Given the description of an element on the screen output the (x, y) to click on. 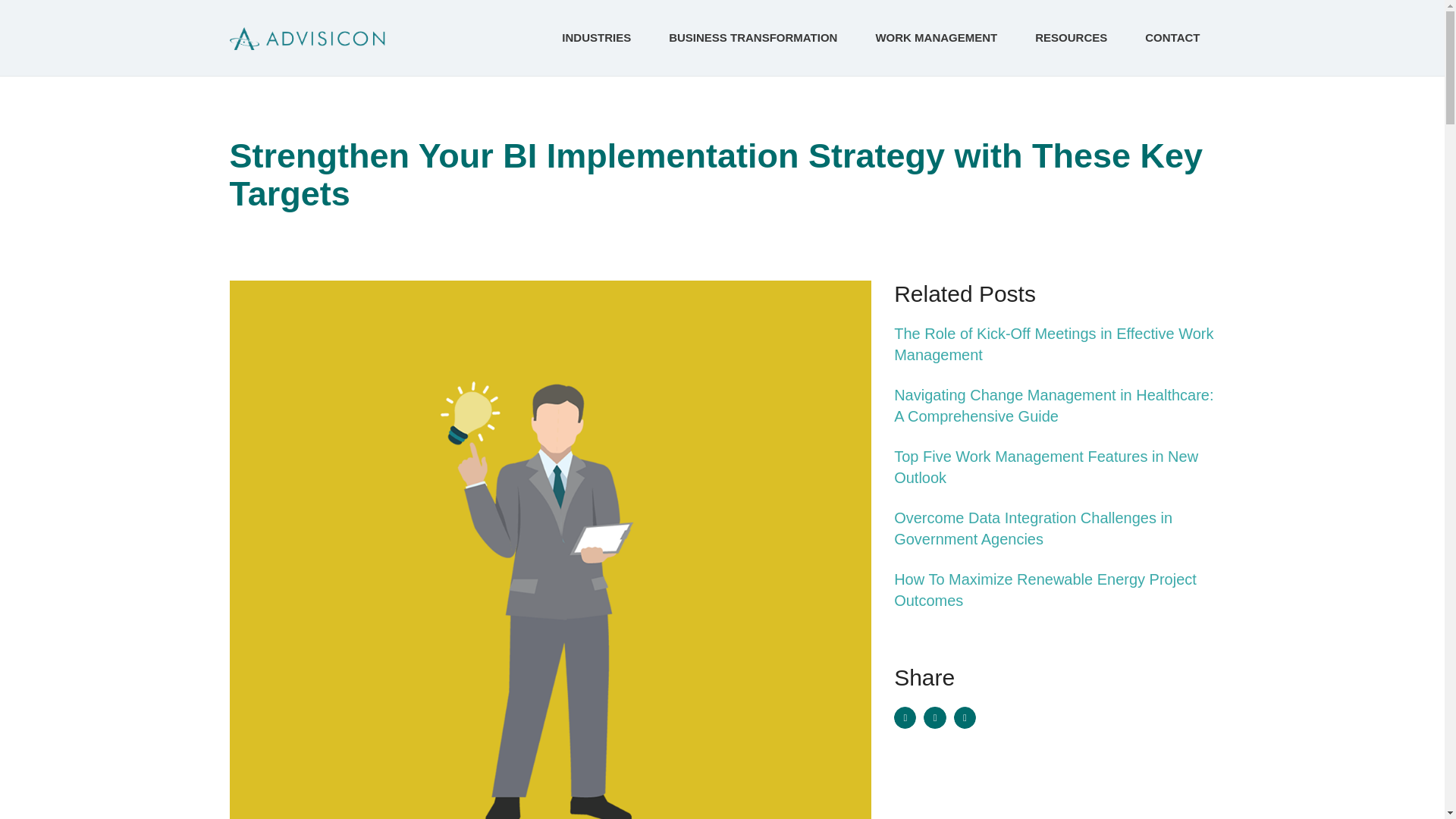
INDUSTRIES (600, 38)
WORK MANAGEMENT (940, 38)
RESOURCES (1074, 38)
CONTACT (1171, 38)
BUSINESS TRANSFORMATION (756, 38)
